Given the description of an element on the screen output the (x, y) to click on. 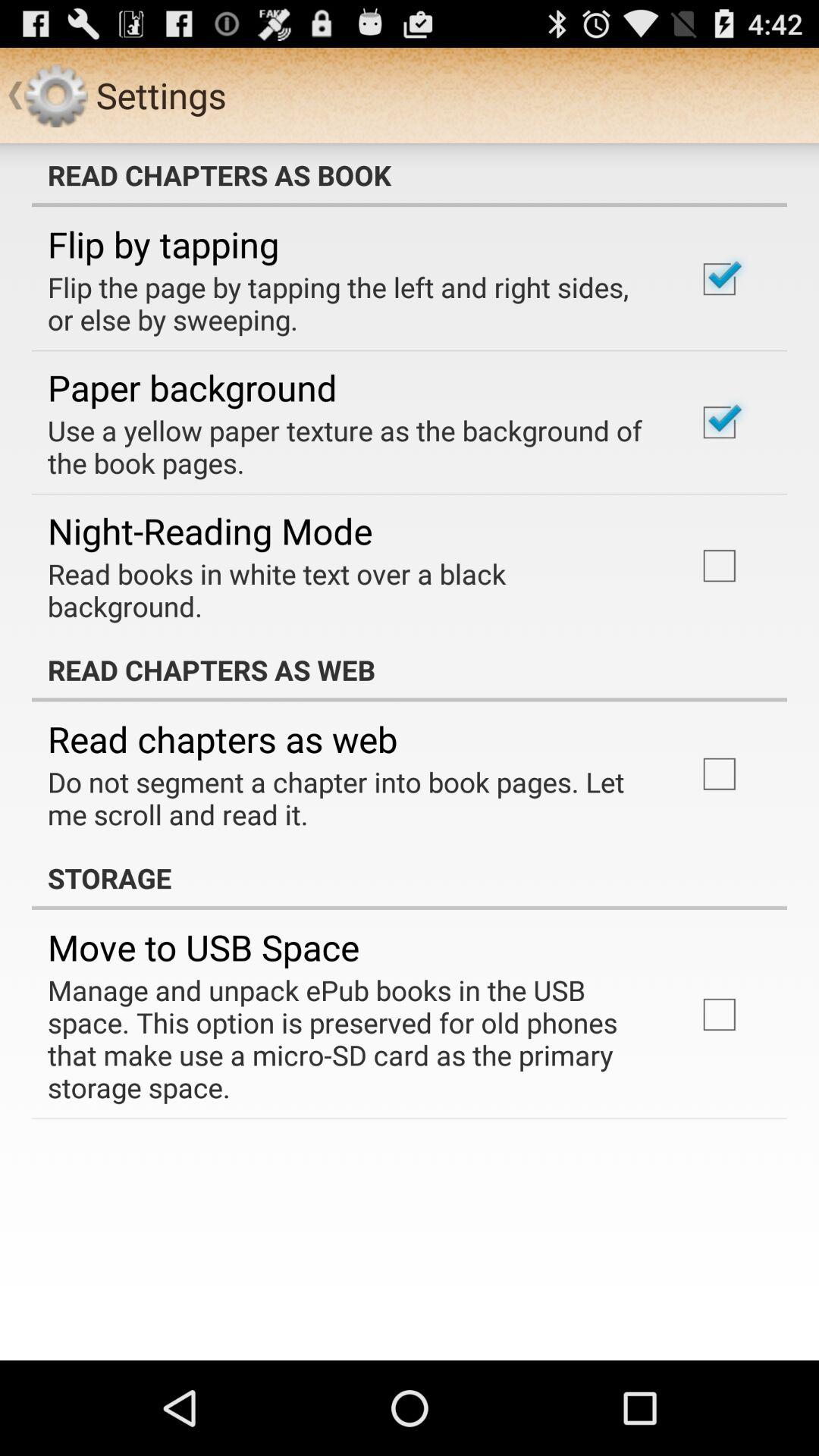
turn on the manage and unpack (351, 1038)
